Given the description of an element on the screen output the (x, y) to click on. 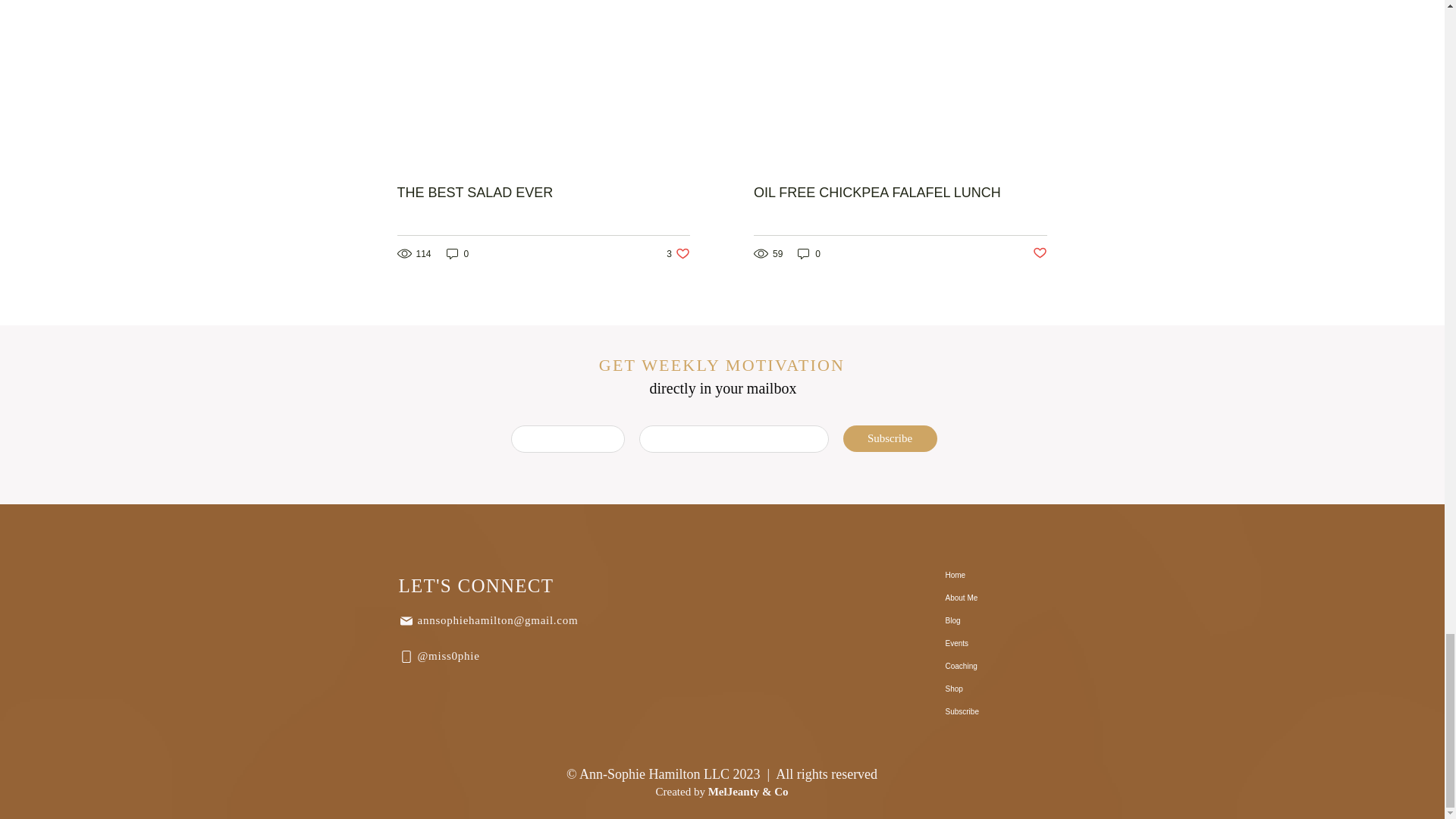
THE BEST SALAD EVER (678, 253)
0 (543, 192)
Post not marked as liked (809, 253)
0 (1039, 253)
OIL FREE CHICKPEA FALAFEL LUNCH (457, 253)
